Given the description of an element on the screen output the (x, y) to click on. 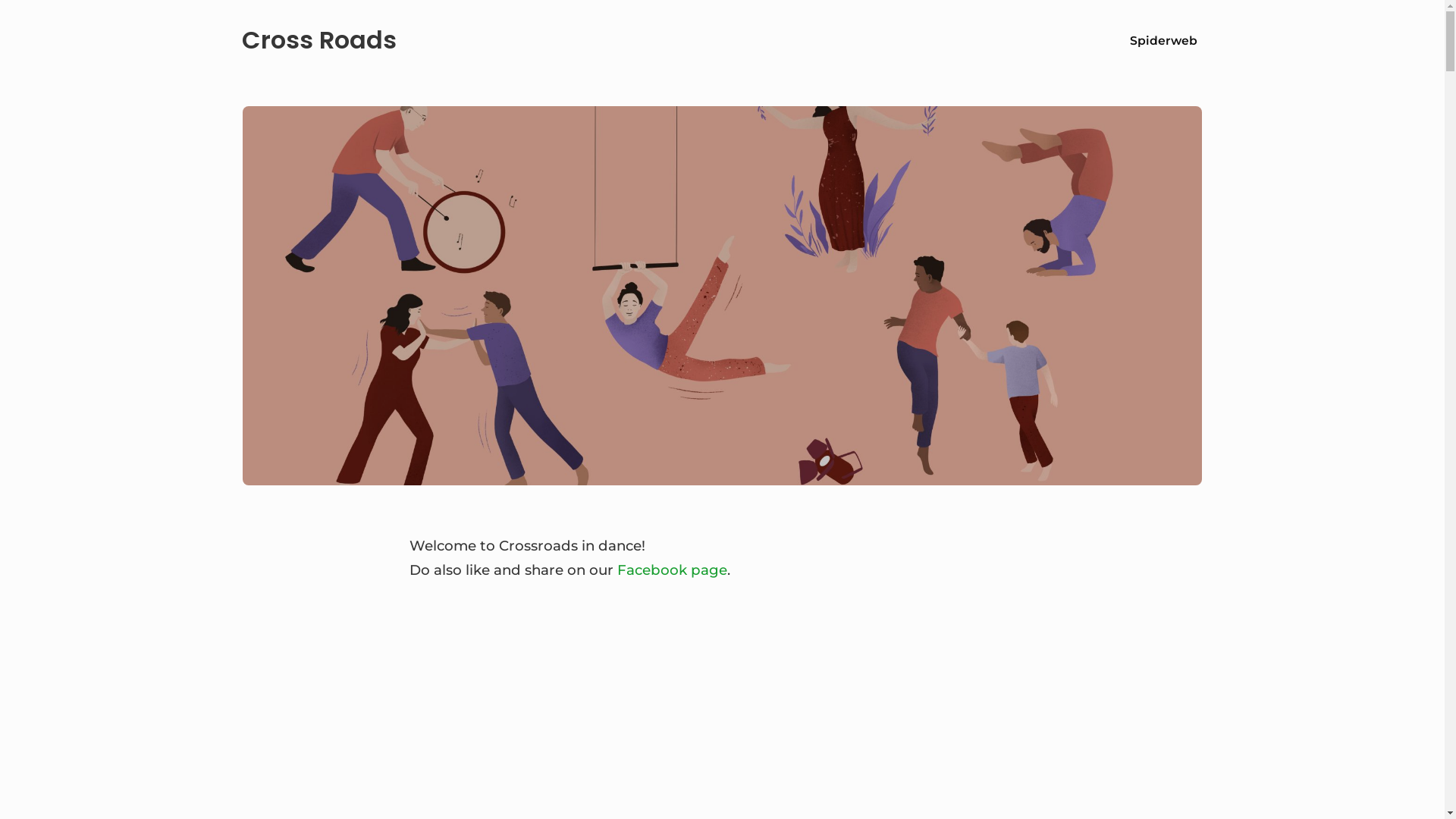
Spiderweb Element type: text (1163, 40)
Cross Roads Element type: text (318, 40)
Facebook page Element type: text (672, 569)
